Given the description of an element on the screen output the (x, y) to click on. 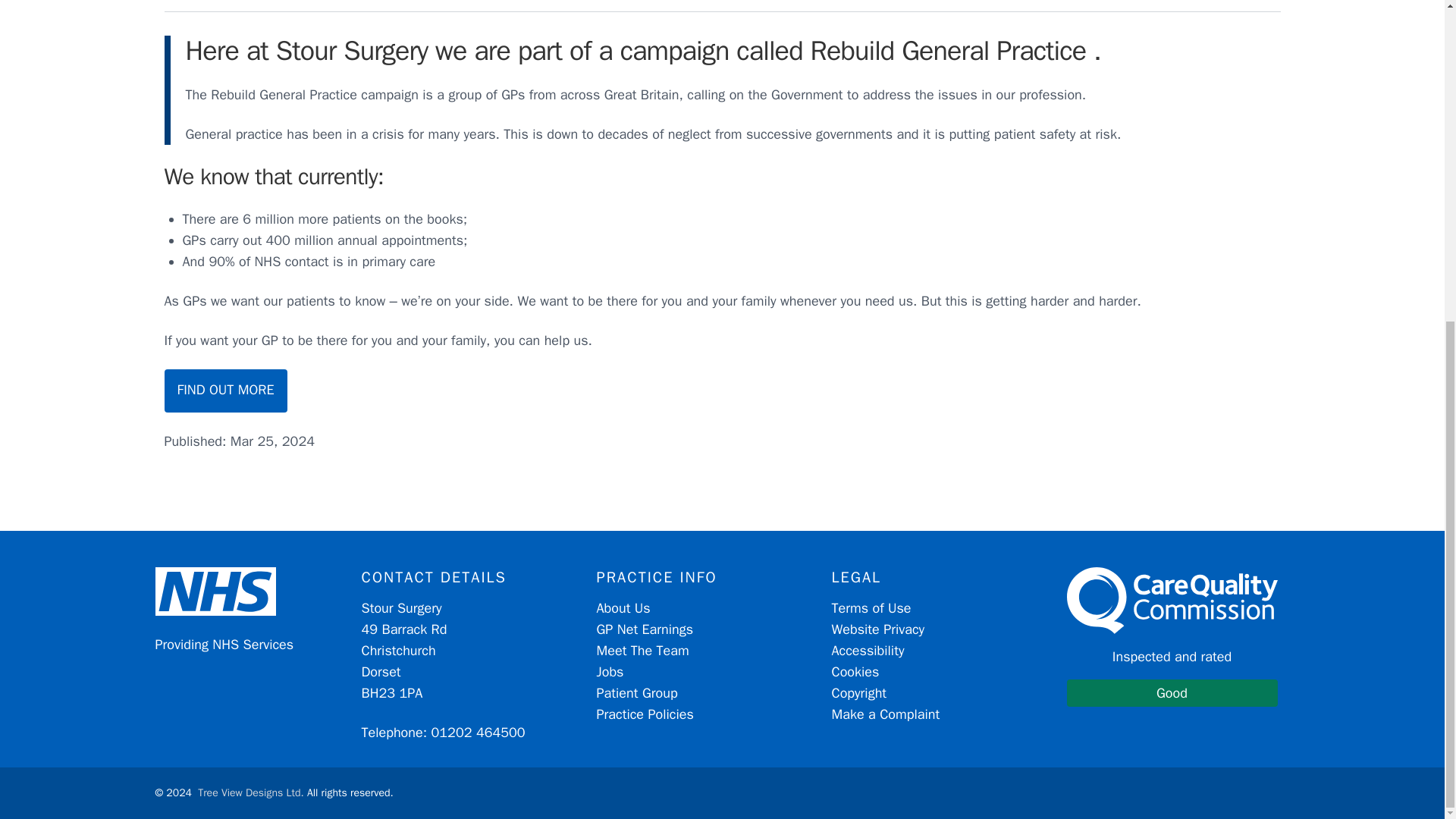
FIND OUT MORE (224, 390)
Jobs (609, 671)
Patient Group (1170, 636)
GP Net Earnings (636, 692)
01202 464500 (644, 629)
Make a Complaint (477, 732)
About Us (885, 713)
Terms of Use (622, 607)
Copyright (871, 607)
Accessibility (858, 692)
Meet The Team (867, 650)
Tree View Designs Ltd. (641, 650)
Practice Policies (251, 792)
Cookies (644, 713)
